Given the description of an element on the screen output the (x, y) to click on. 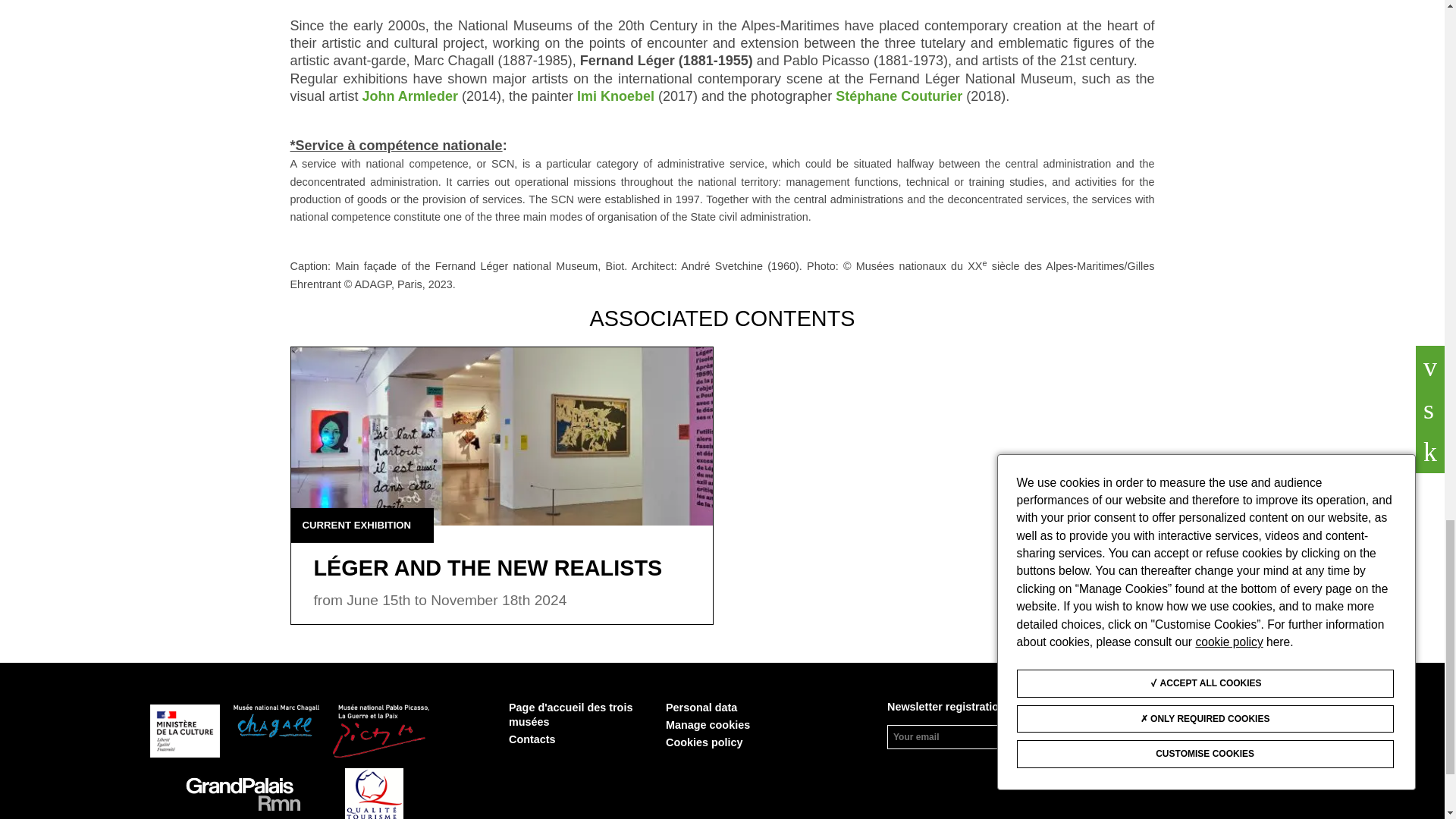
OK (1086, 736)
